Given the description of an element on the screen output the (x, y) to click on. 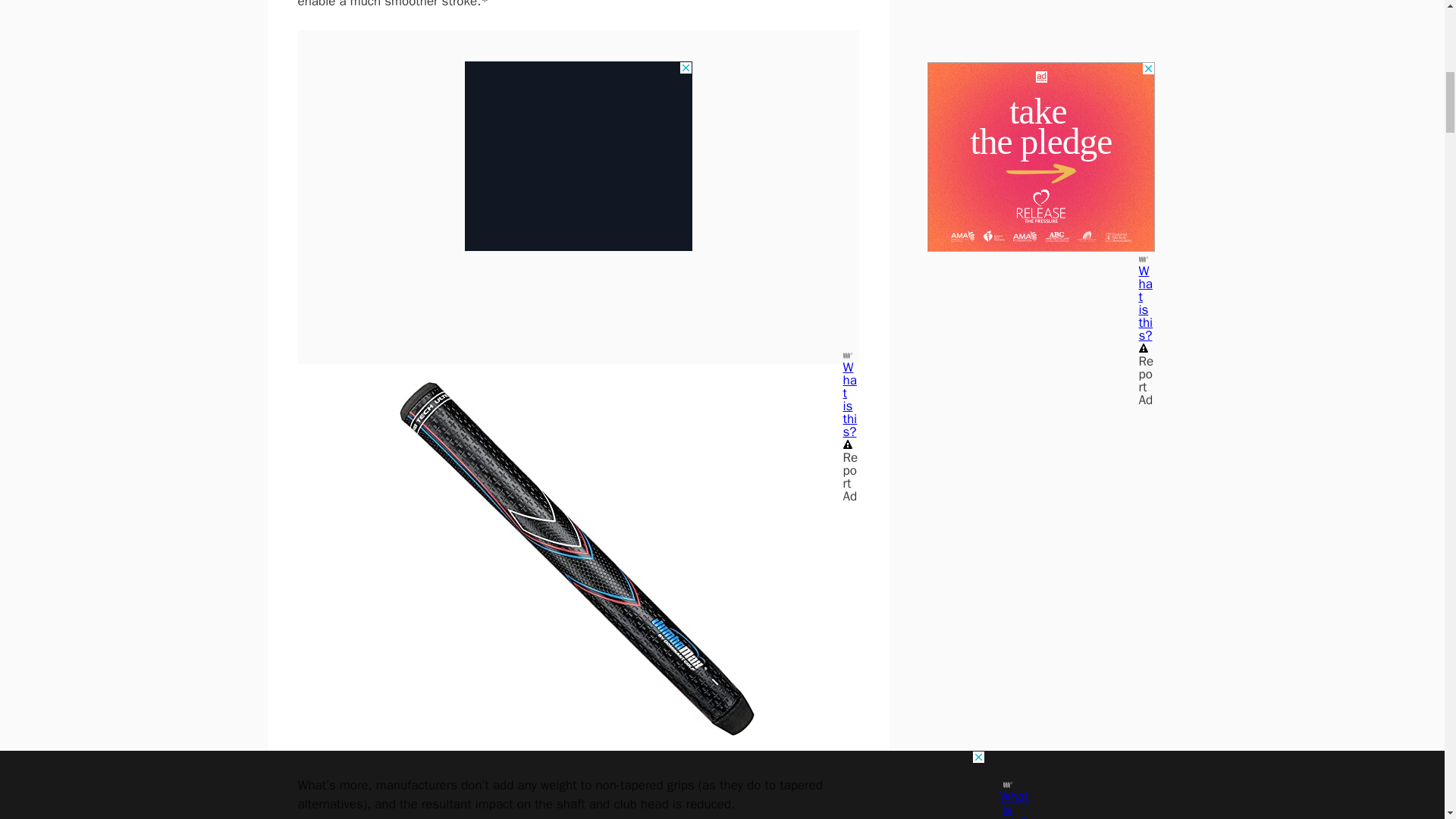
3rd party ad content (577, 125)
